Given the description of an element on the screen output the (x, y) to click on. 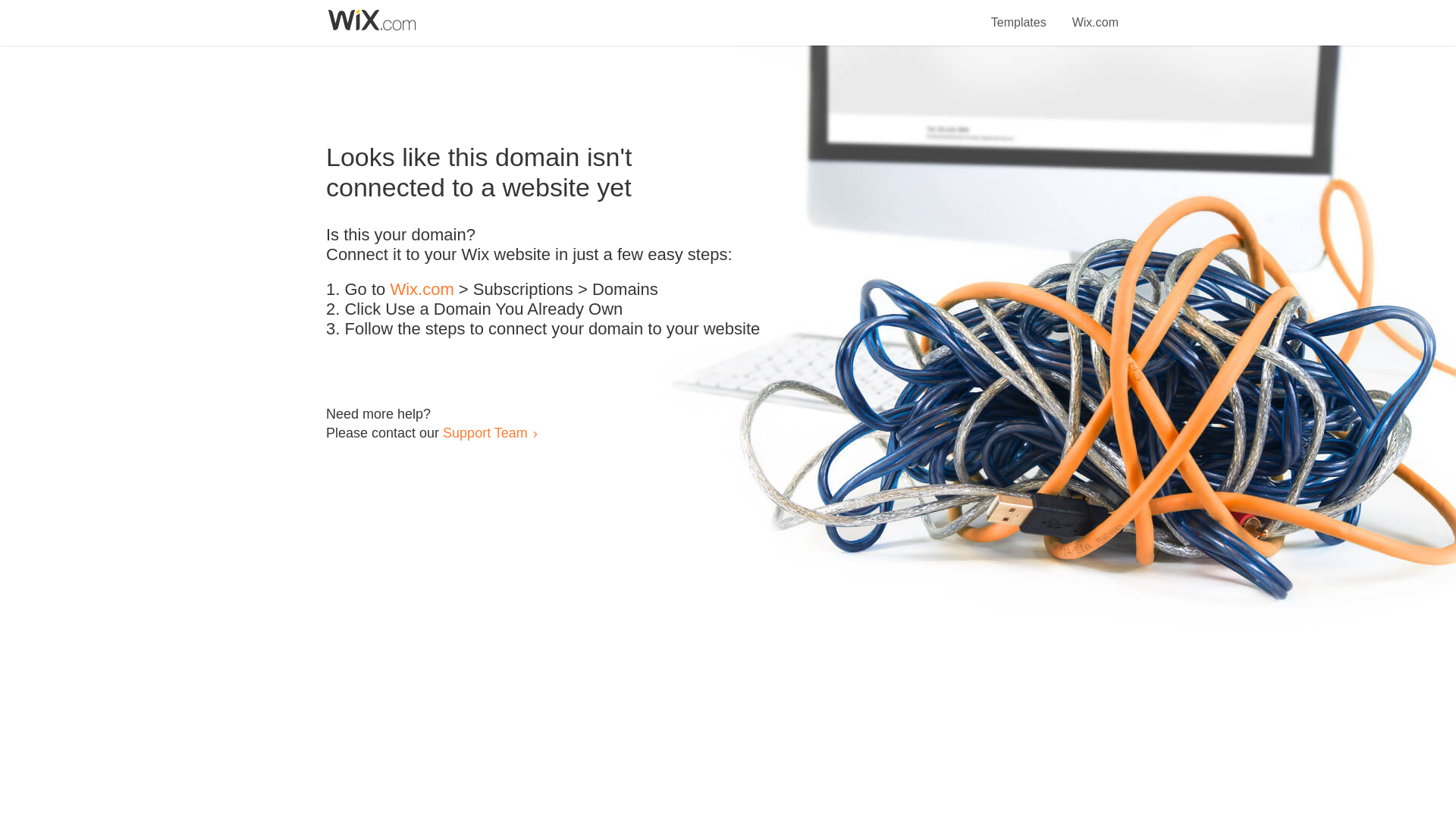
Support Team (484, 432)
Wix.com (1095, 14)
Templates (1018, 14)
Wix.com (421, 289)
